Given the description of an element on the screen output the (x, y) to click on. 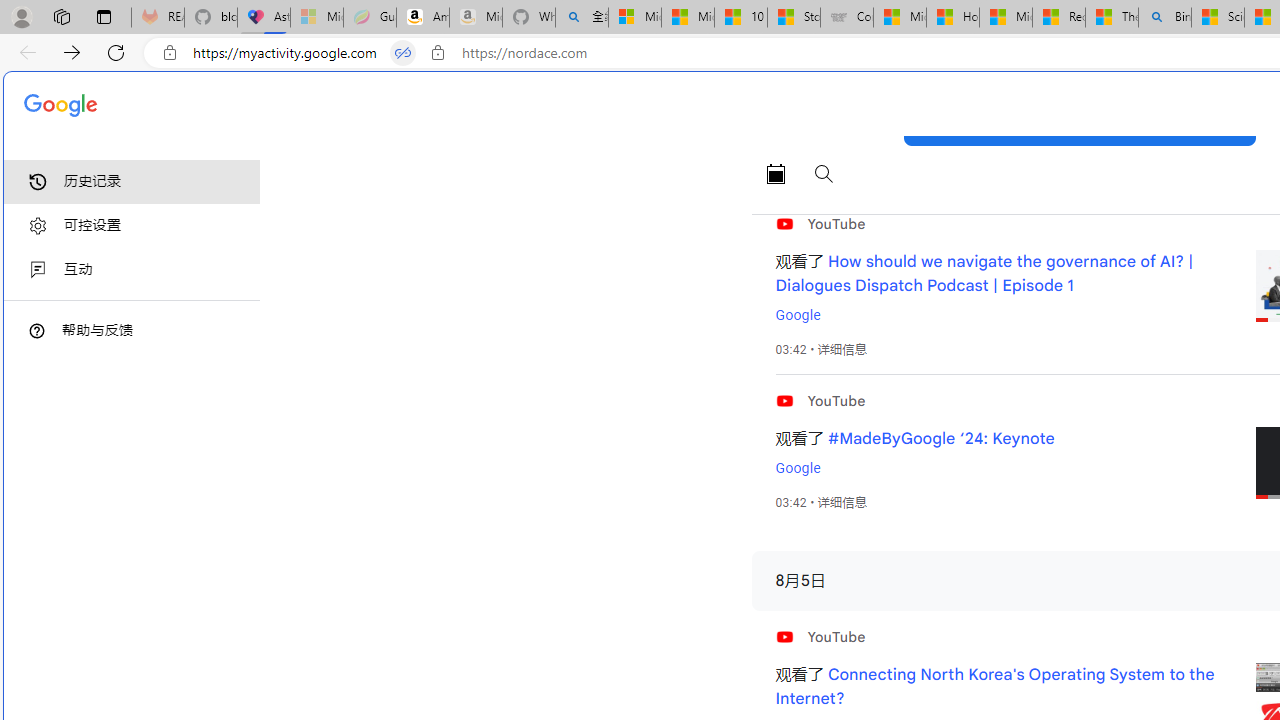
Class: i2GIId (38, 269)
Connecting North Korea's Operating System to the Internet? (994, 687)
